Given the description of an element on the screen output the (x, y) to click on. 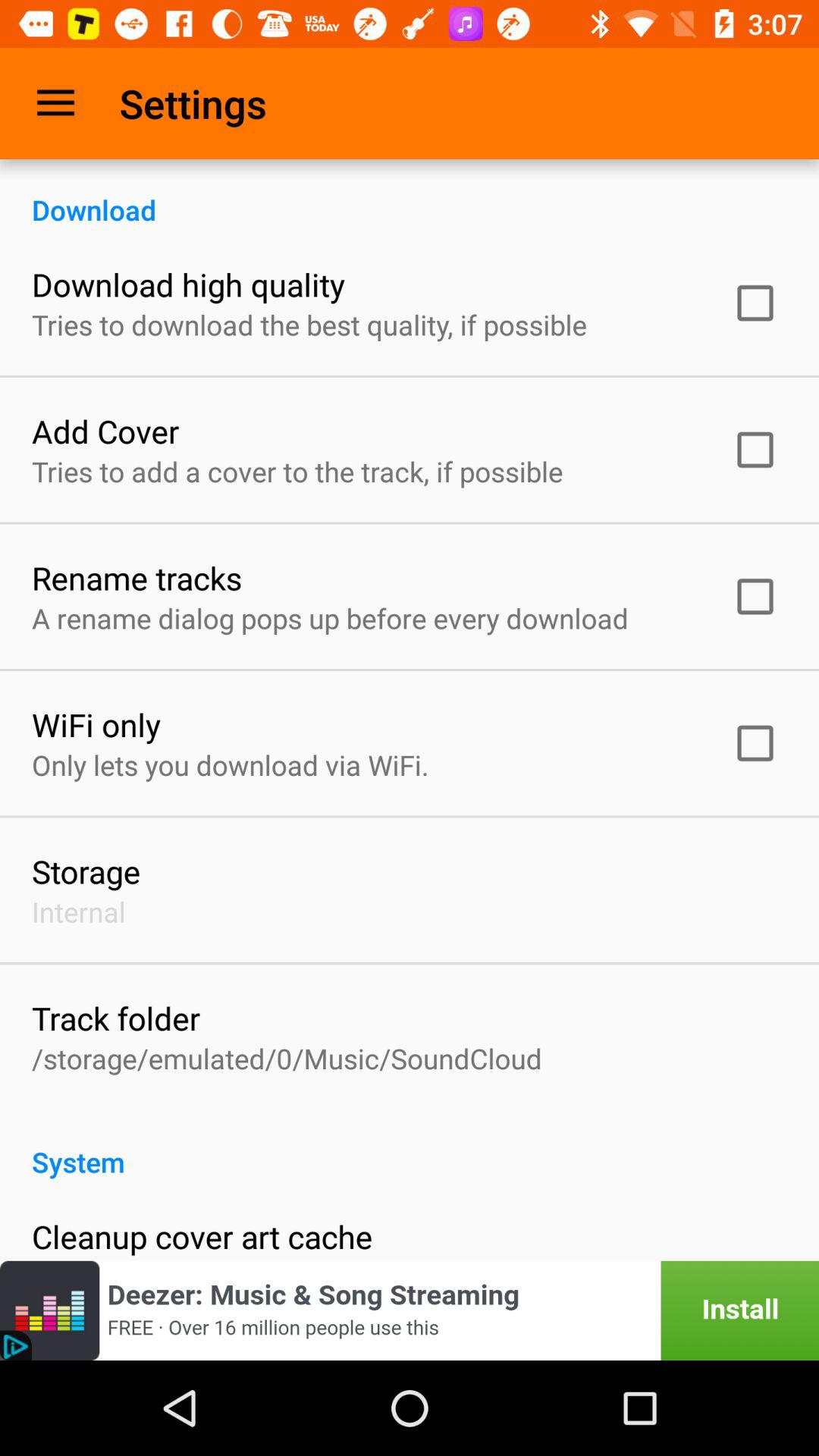
click the system (409, 1145)
